Given the description of an element on the screen output the (x, y) to click on. 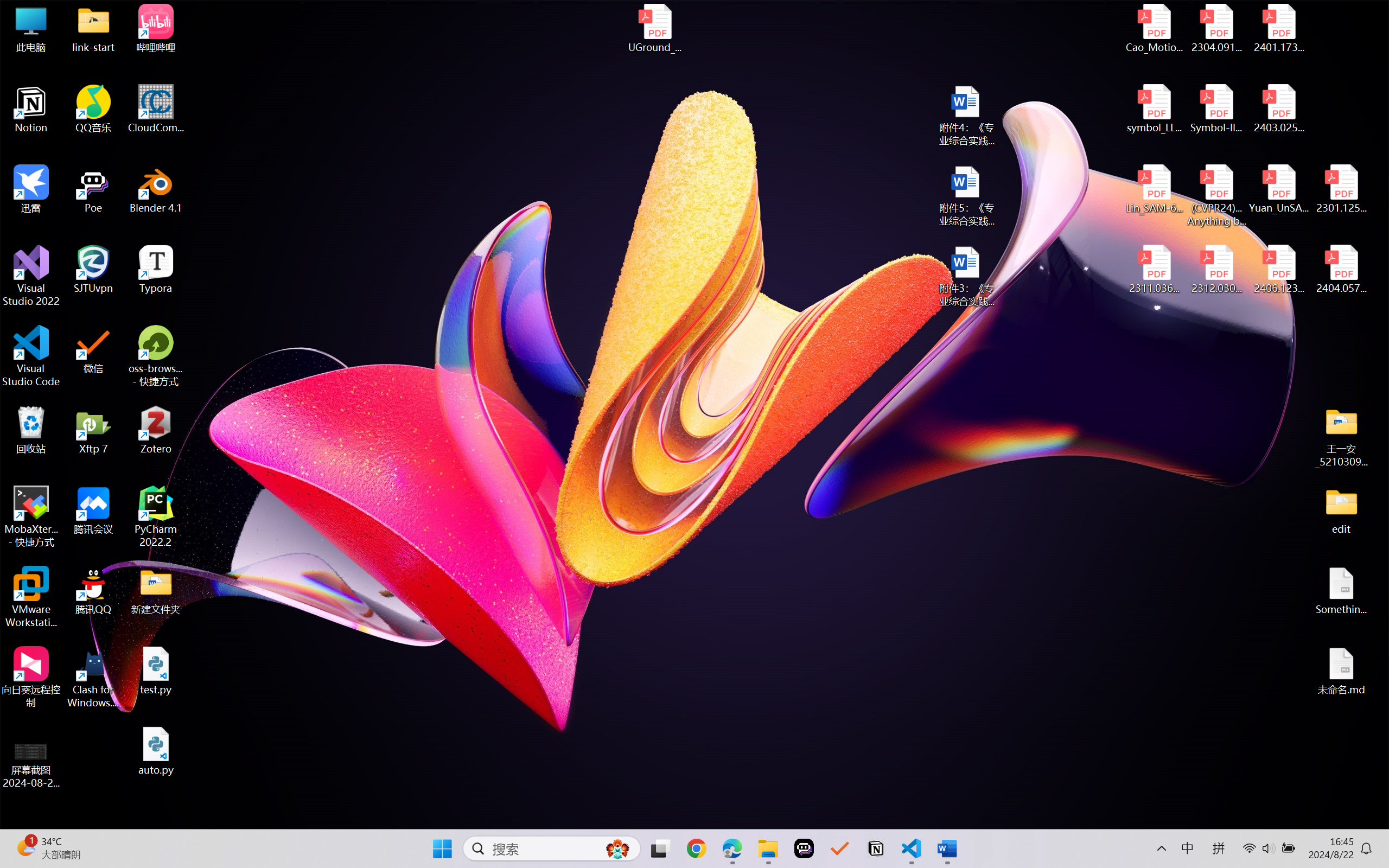
Visual Studio 2022 (31, 276)
2401.17399v1.pdf (1278, 28)
Google Chrome (696, 848)
Blender 4.1 (156, 189)
edit (1340, 510)
